Given the description of an element on the screen output the (x, y) to click on. 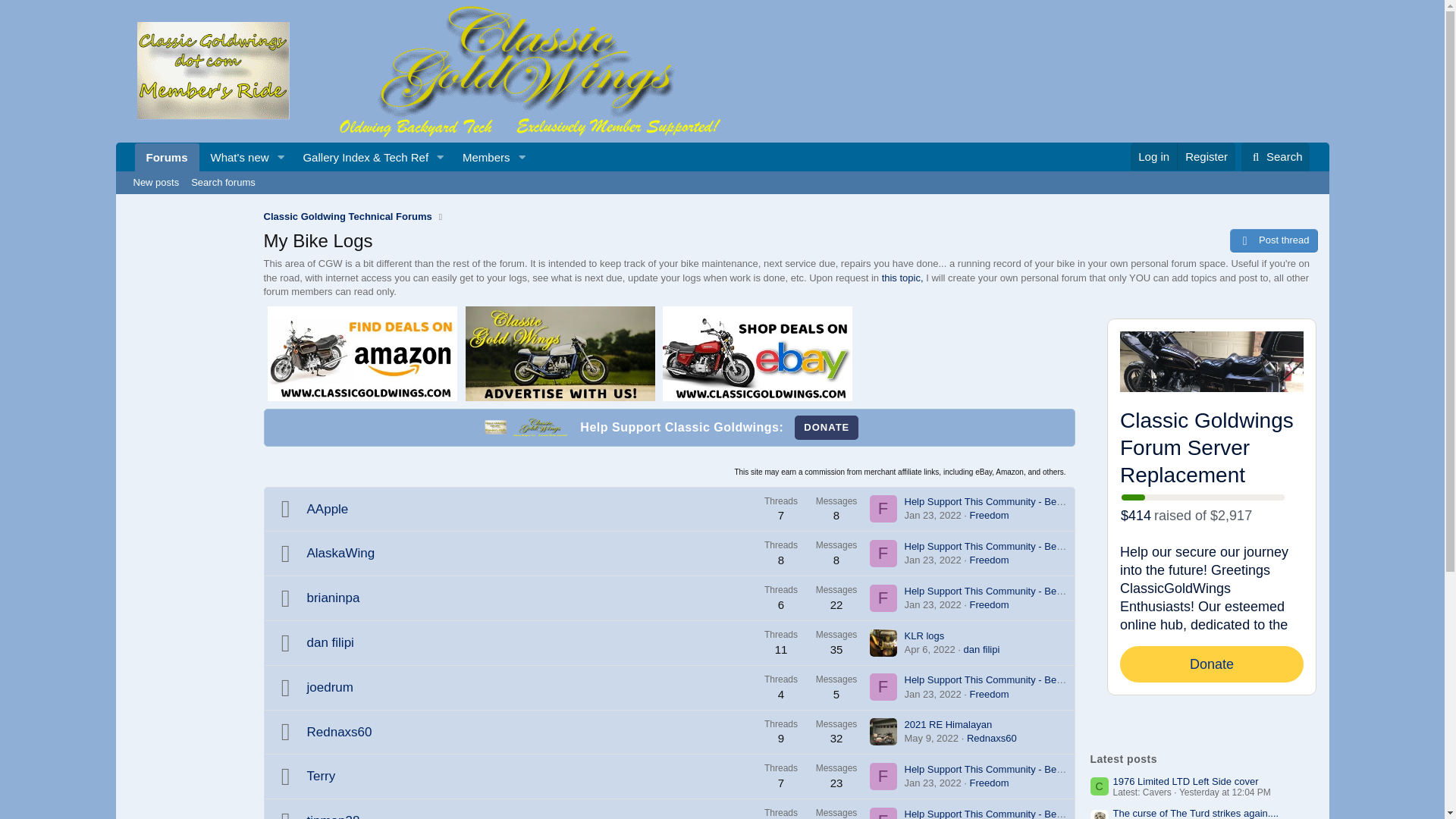
What's new (234, 157)
Jan 23, 2022 at 3:19 PM (932, 604)
Jan 23, 2022 at 3:19 PM (932, 559)
KLR logs (923, 635)
Jan 23, 2022 at 3:19 PM (932, 782)
May 9, 2022 at 3:18 PM (931, 737)
Forums (167, 157)
Donate (826, 427)
2021 RE Himalayan (947, 724)
Jan 23, 2022 at 3:19 PM (932, 694)
